Given the description of an element on the screen output the (x, y) to click on. 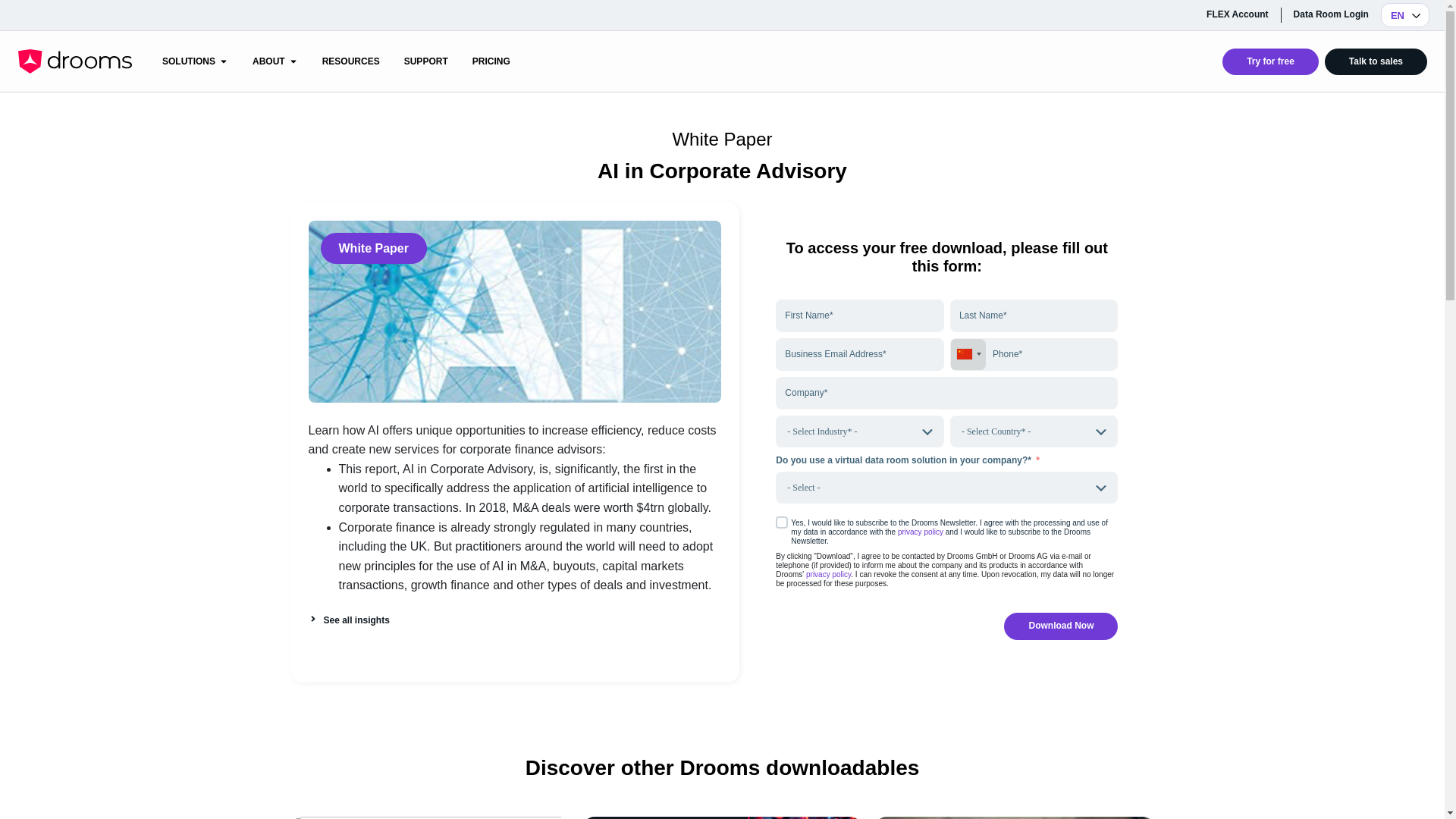
FLEX Account (1237, 14)
ABOUT (268, 61)
EN (1404, 15)
Try for free (1271, 61)
RESOURCES (350, 61)
White Paper (372, 247)
PRICING (491, 61)
privacy policy (921, 531)
White Paper (721, 138)
on (781, 522)
